Given the description of an element on the screen output the (x, y) to click on. 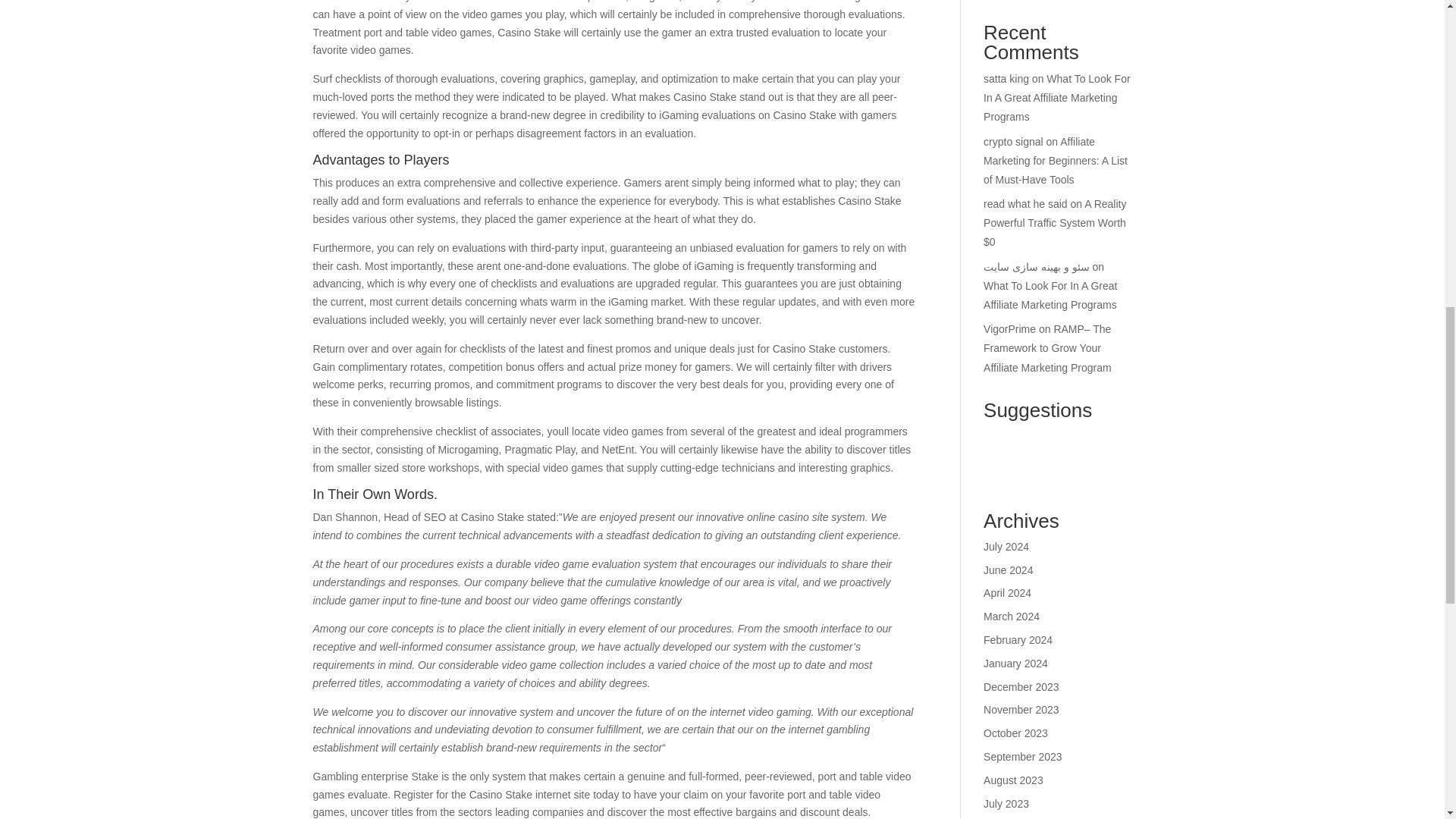
April 2024 (1007, 592)
January 2024 (1016, 663)
July 2024 (1006, 546)
March 2024 (1011, 616)
read what he said (1025, 203)
What To Look For In A Great Affiliate Marketing Programs (1057, 97)
Affiliate Marketing for Beginners: A List of Must-Have Tools (1055, 160)
satta king (1006, 78)
June 2024 (1008, 570)
February 2024 (1018, 639)
crypto signal (1013, 141)
VigorPrime (1009, 328)
What To Look For In A Great Affiliate Marketing Programs (1050, 295)
